Given the description of an element on the screen output the (x, y) to click on. 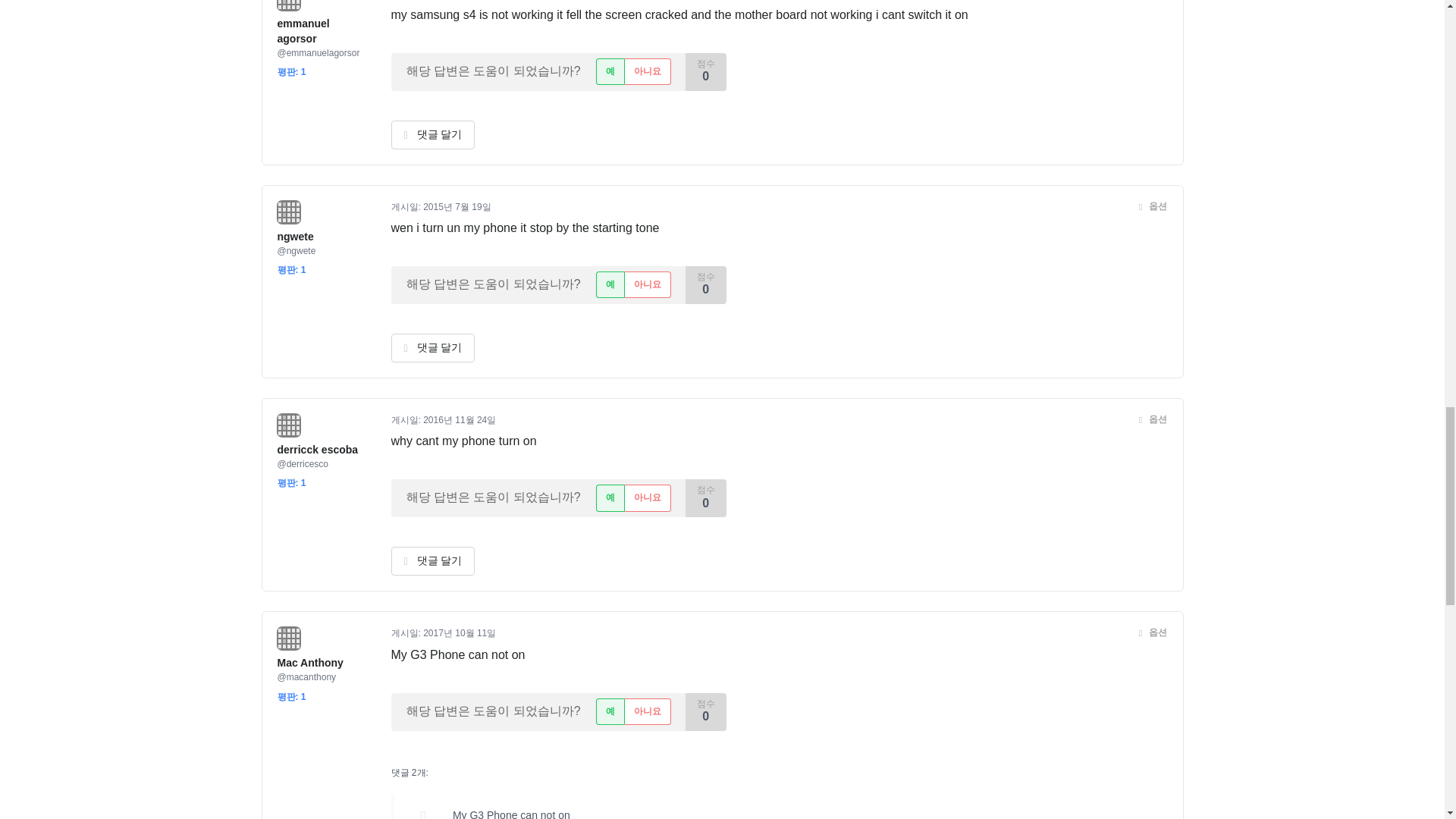
Wed, 11 Oct 2017 08:47:17 -0700 (459, 633)
Thu, 24 Nov 2016 00:38:16 -0700 (459, 419)
Sun, 19 Jul 2015 10:34:55 -0700 (456, 206)
